Given the description of an element on the screen output the (x, y) to click on. 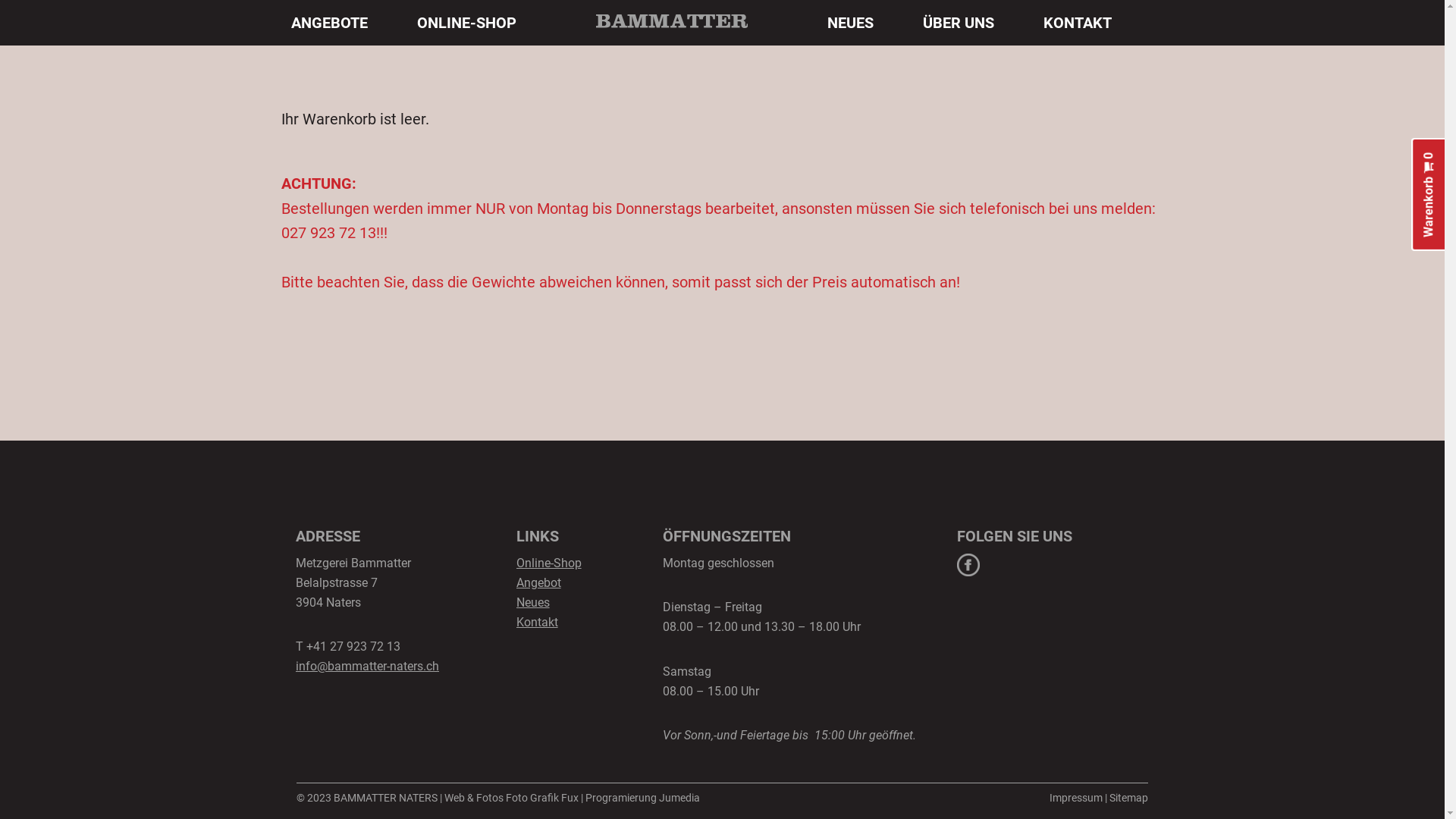
Neues Element type: text (532, 602)
ONLINE-SHOP Element type: text (466, 22)
Angebot Element type: text (538, 582)
info@bammatter-naters.ch Element type: text (367, 665)
KONTAKT Element type: text (1077, 22)
ANGEBOTE Element type: text (329, 22)
Online-Shop Element type: text (548, 562)
Sitemap Element type: text (1128, 797)
Programierung Jumedia Element type: text (642, 797)
NEUES Element type: text (849, 22)
Kontakt Element type: text (537, 622)
Impressum Element type: text (1075, 797)
Web & Fotos Foto Grafik Fux Element type: text (511, 797)
